Given the description of an element on the screen output the (x, y) to click on. 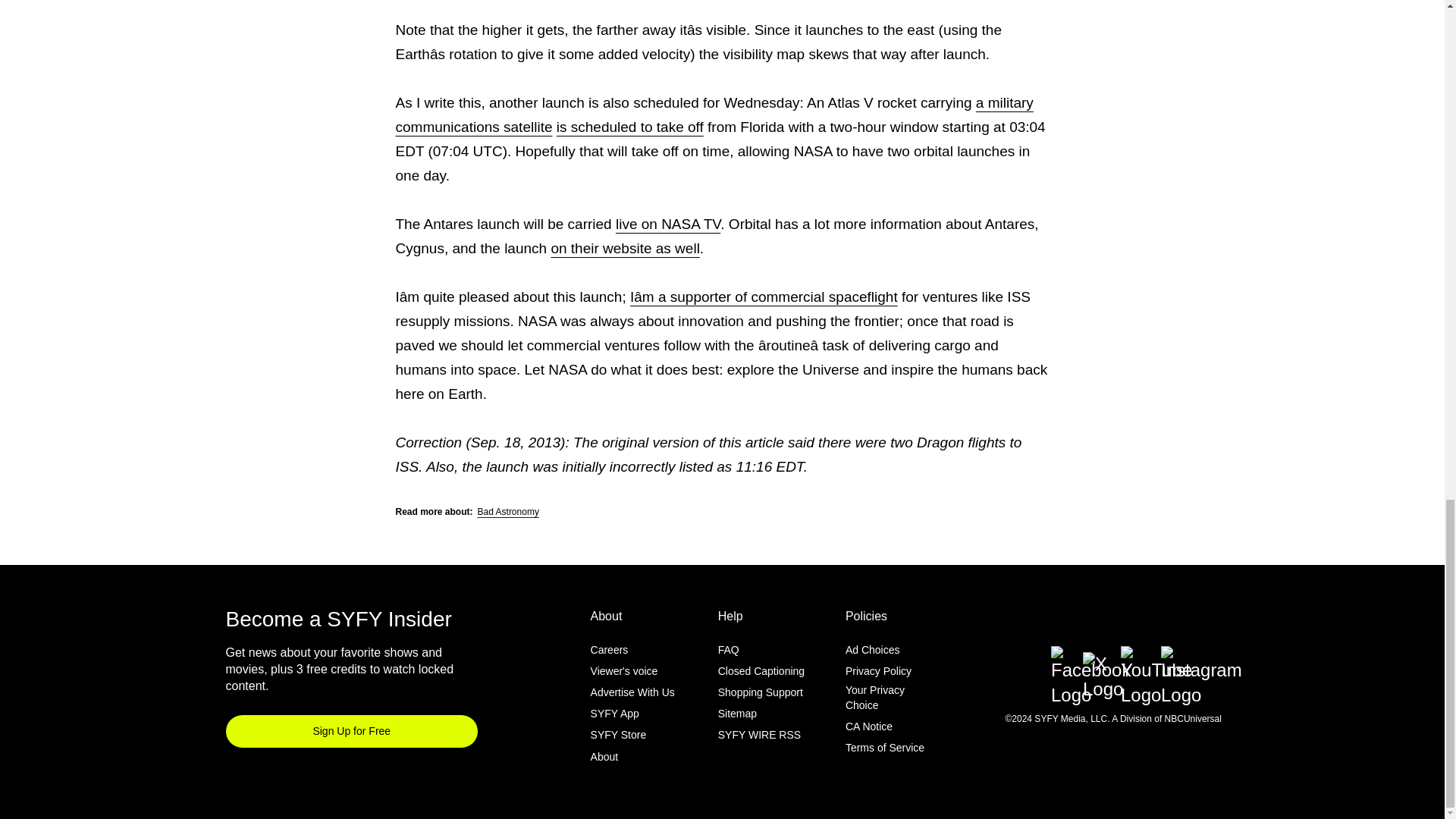
live on NASA TV (667, 223)
a military communications satellite (714, 115)
Bad Astronomy (507, 511)
Advertise With Us (633, 692)
is scheduled to take off (629, 126)
on their website as well (624, 248)
